Given the description of an element on the screen output the (x, y) to click on. 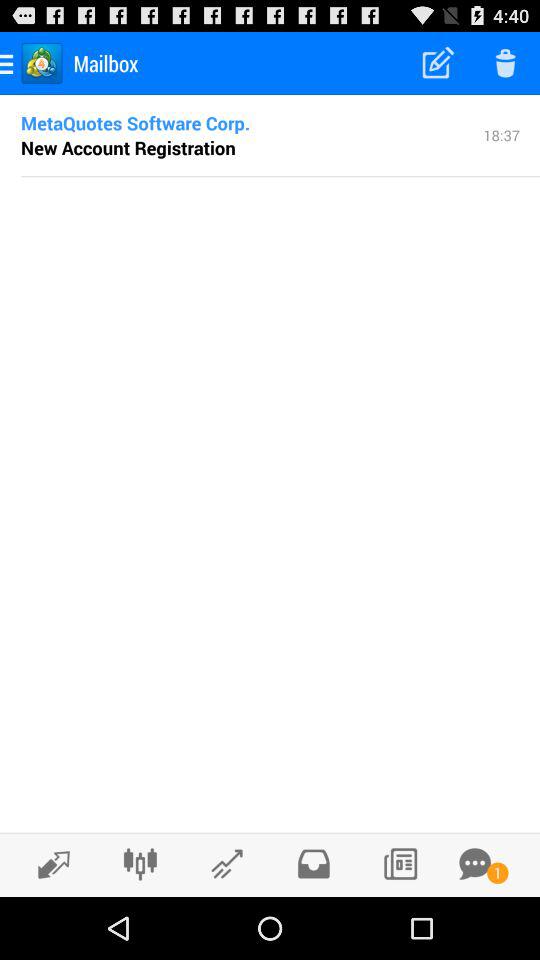
turn on the icon above the new account registration item (135, 122)
